Given the description of an element on the screen output the (x, y) to click on. 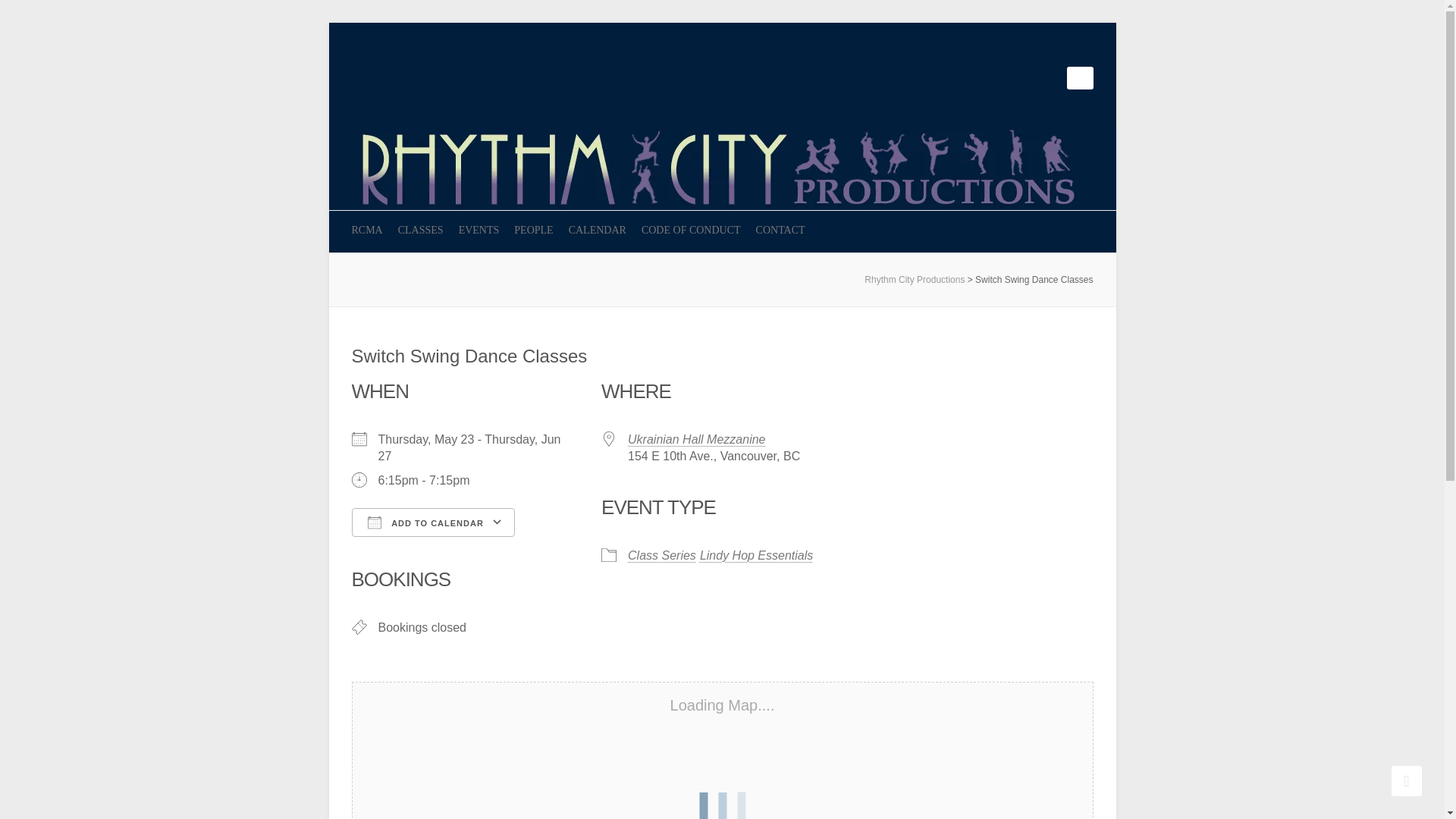
PEOPLE (533, 231)
Rhythm City Productions Youtube (1031, 77)
Rhythm City Productions on Youtube (1031, 77)
CLASSES (420, 231)
CALENDAR (597, 231)
CONTACT (780, 231)
ADD TO CALENDAR (433, 522)
Download ICS (368, 549)
Rhythm City Productions on Twitter (1008, 77)
Rhythm City Productions (722, 134)
Switch Swing Dance Classes (470, 355)
Rhythm City Productions Facebook (986, 77)
Rhythm City Productions (913, 279)
Rhythm City Productions Twitter (1008, 77)
EVENTS (478, 231)
